Given the description of an element on the screen output the (x, y) to click on. 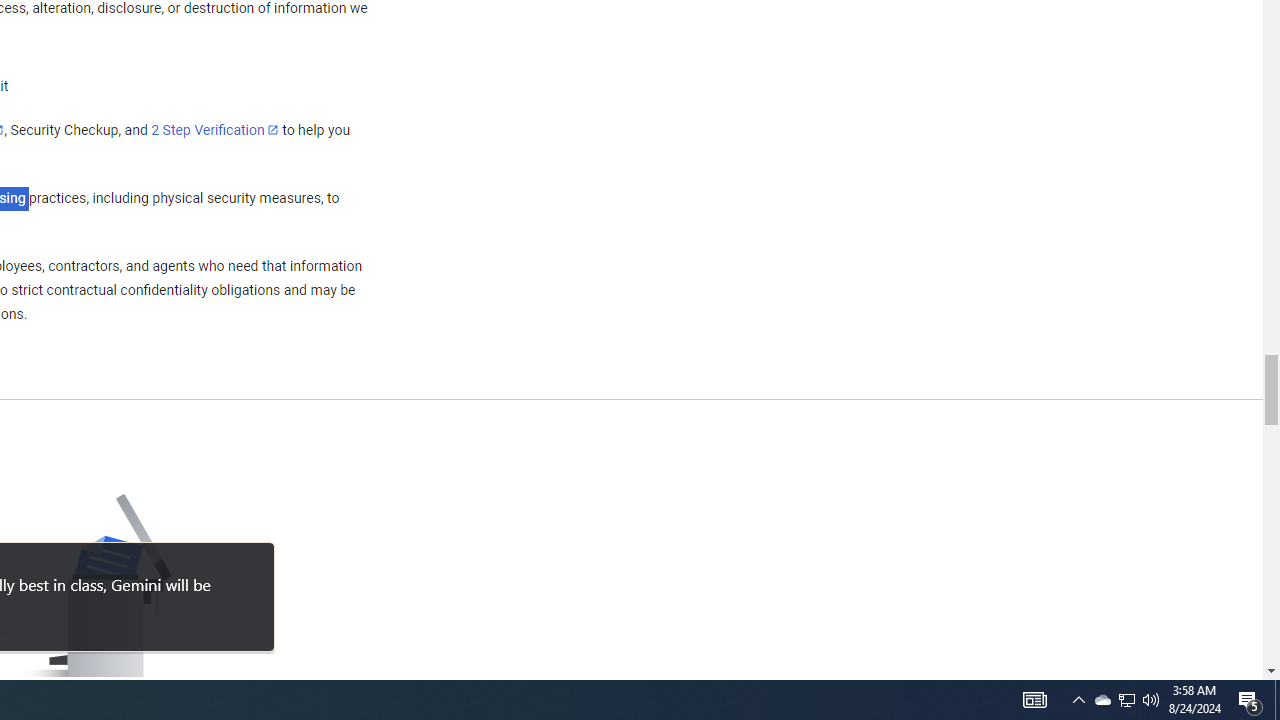
2 Step Verification (215, 129)
